Given the description of an element on the screen output the (x, y) to click on. 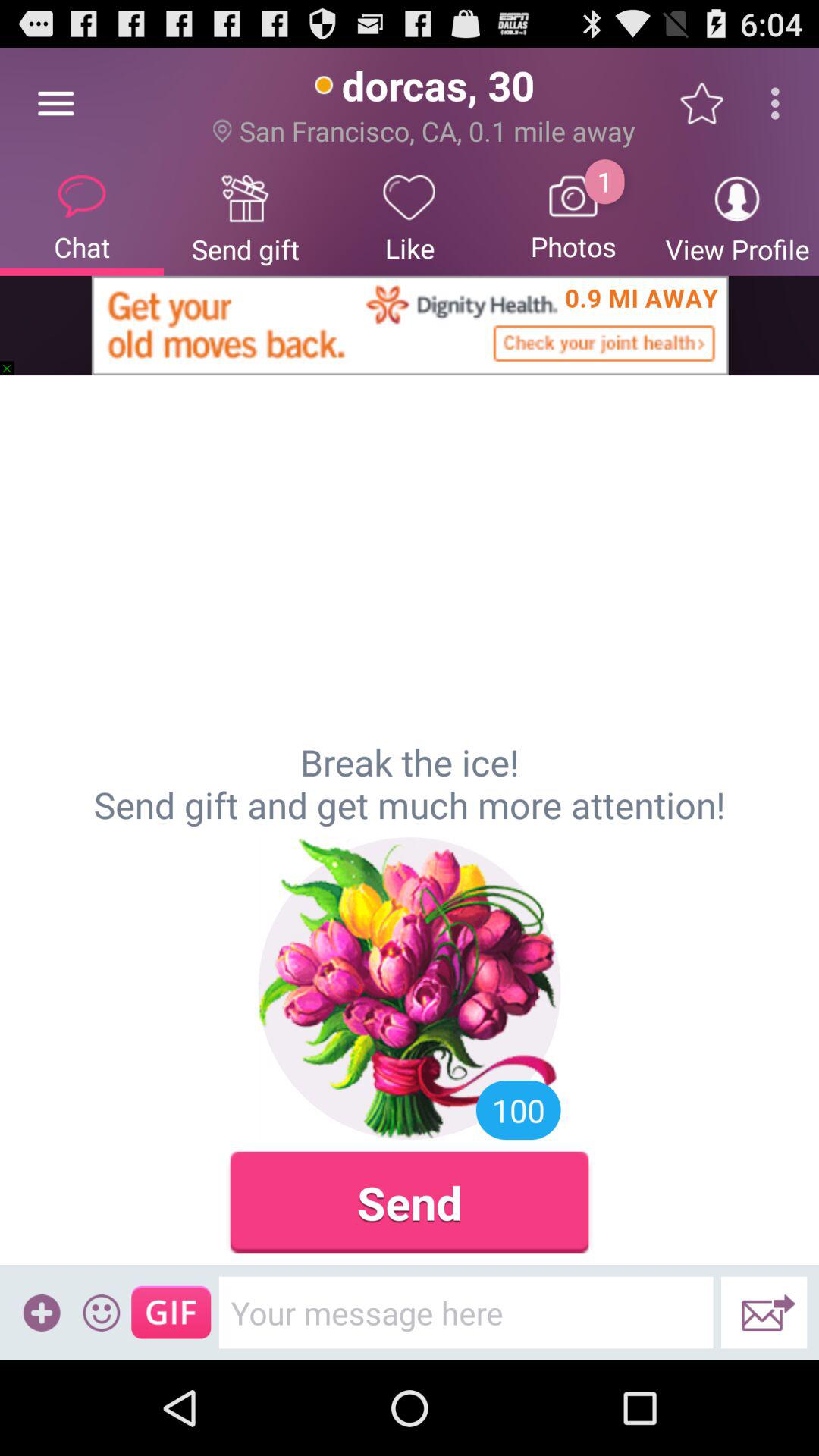
open the item to the left of view profile (573, 217)
